Given the description of an element on the screen output the (x, y) to click on. 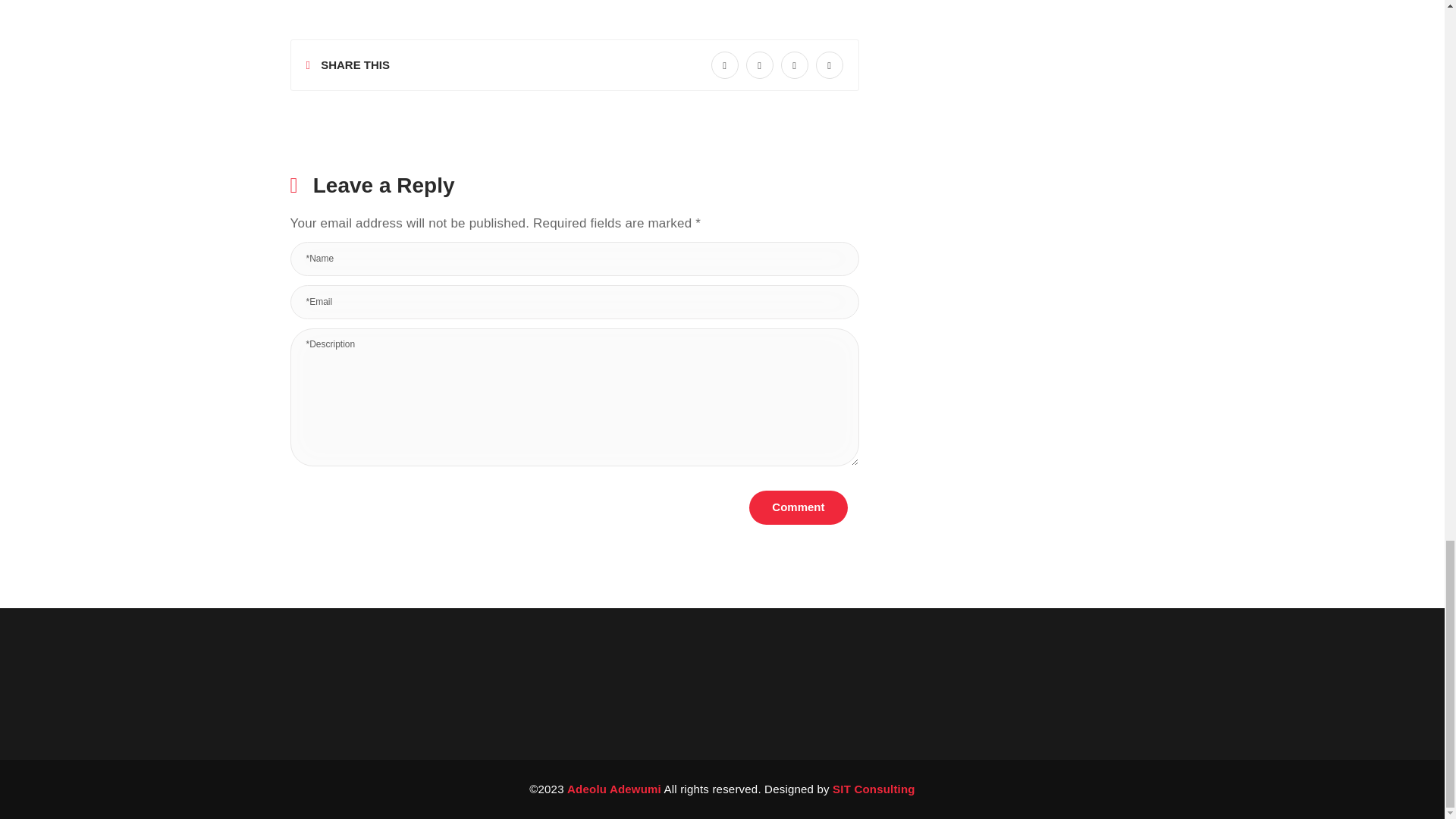
Comment (798, 507)
SIT Consulting (873, 788)
Adeolu Adewumi (614, 788)
Comment (798, 507)
